Given the description of an element on the screen output the (x, y) to click on. 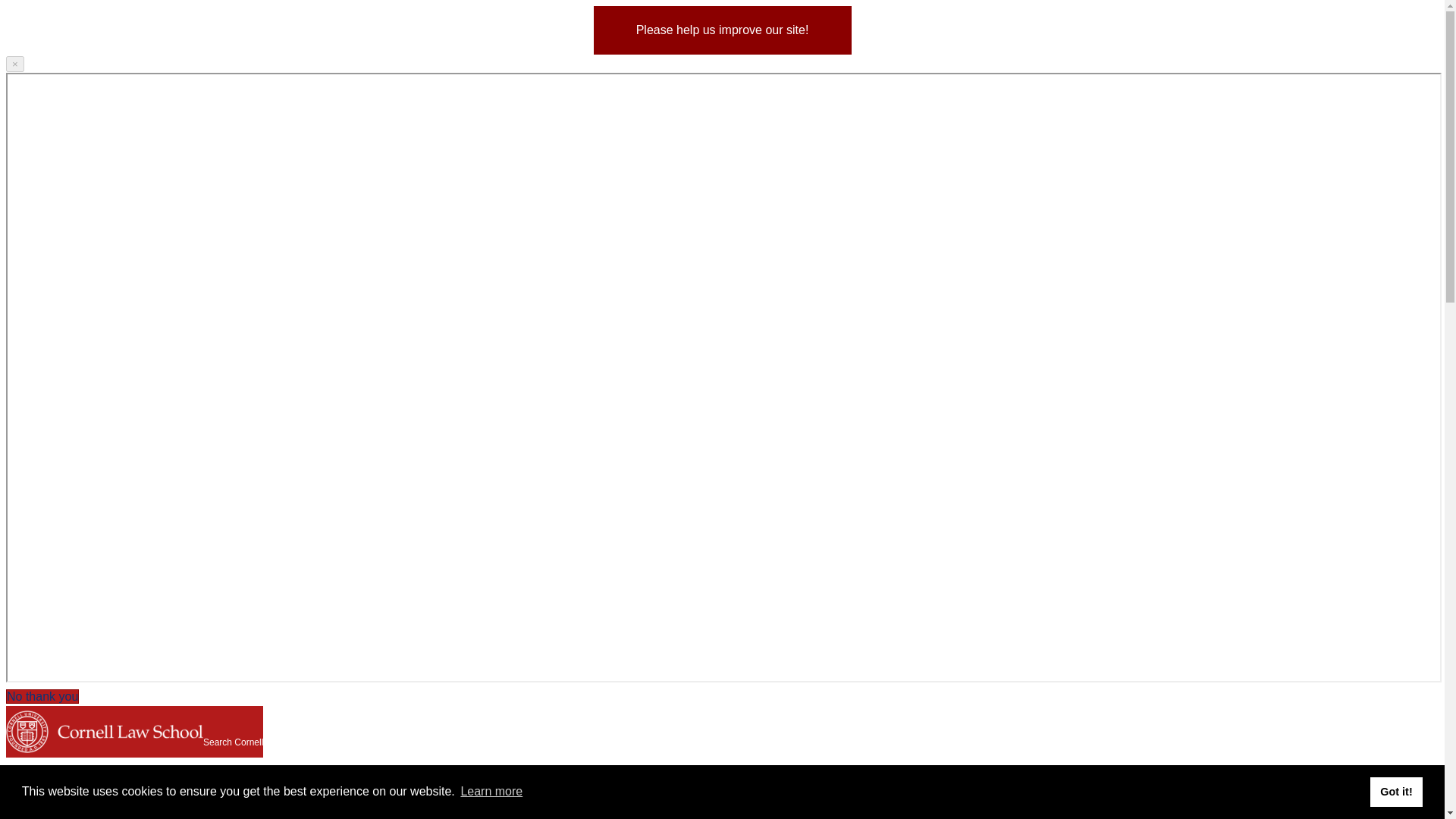
Cornell University (26, 728)
Got it! (1396, 791)
No thank you (41, 696)
Search Cornell (233, 737)
Learn more (491, 791)
Search Cornell University (233, 737)
Cornell Law School (125, 728)
Toggle navigation (65, 780)
Cornell Law School (125, 728)
